Given the description of an element on the screen output the (x, y) to click on. 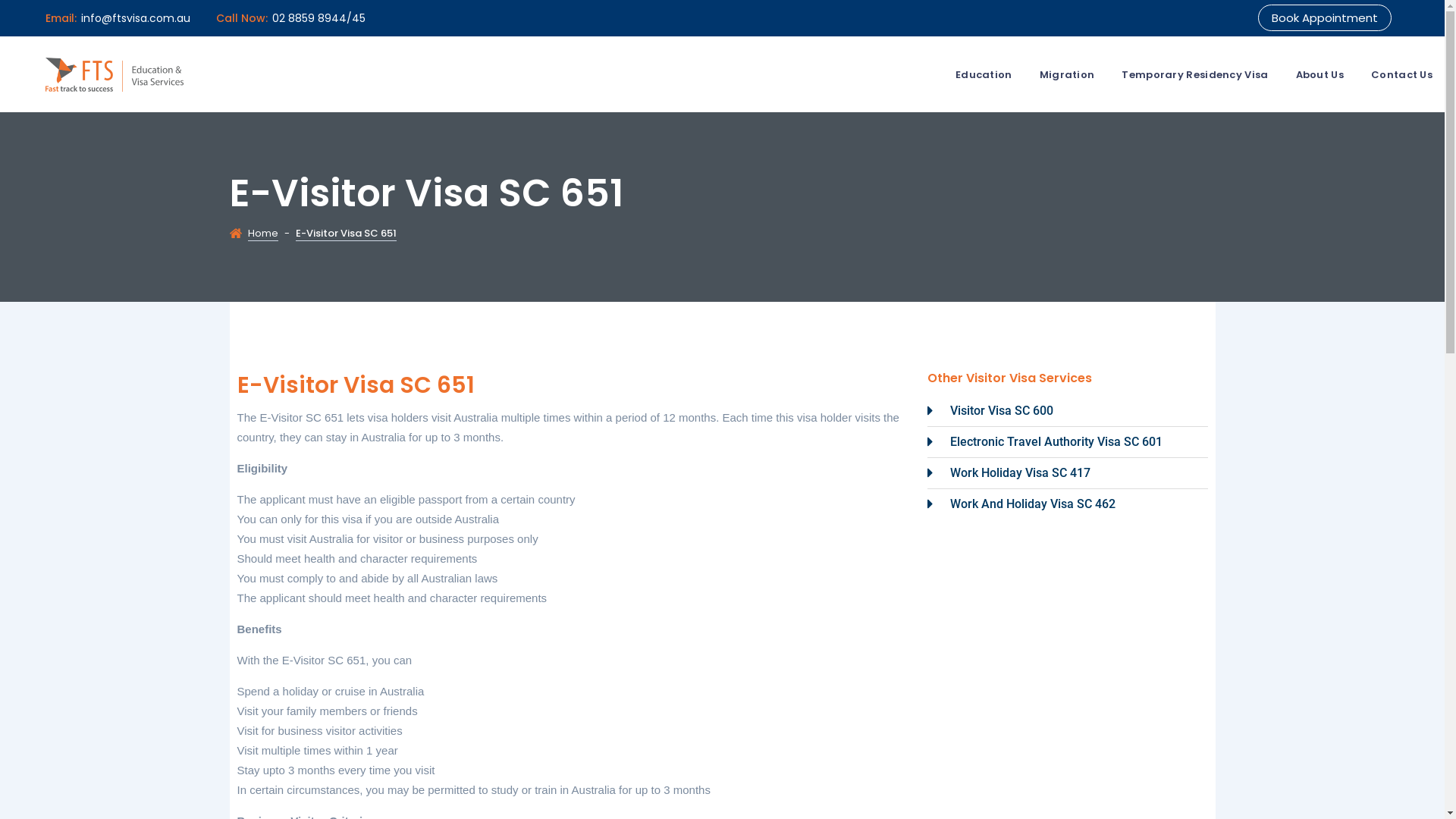
Work And Holiday Visa SC 462 Element type: text (1066, 504)
FTS Education & Visa Services Element type: hover (114, 74)
Book Appointment Element type: text (1324, 17)
Migration Element type: text (1067, 74)
Temporary Residency Visa Element type: text (1194, 74)
Education Element type: text (983, 74)
info@ftsvisa.com.au Element type: text (135, 17)
About Us Element type: text (1319, 74)
02 8859 8944/45 Element type: text (318, 17)
Visitor Visa SC 600 Element type: text (1066, 410)
Home Element type: text (262, 232)
Electronic Travel Authority Visa SC 601 Element type: text (1066, 441)
Work Holiday Visa SC 417 Element type: text (1066, 473)
Contact Us Element type: text (1401, 74)
